Given the description of an element on the screen output the (x, y) to click on. 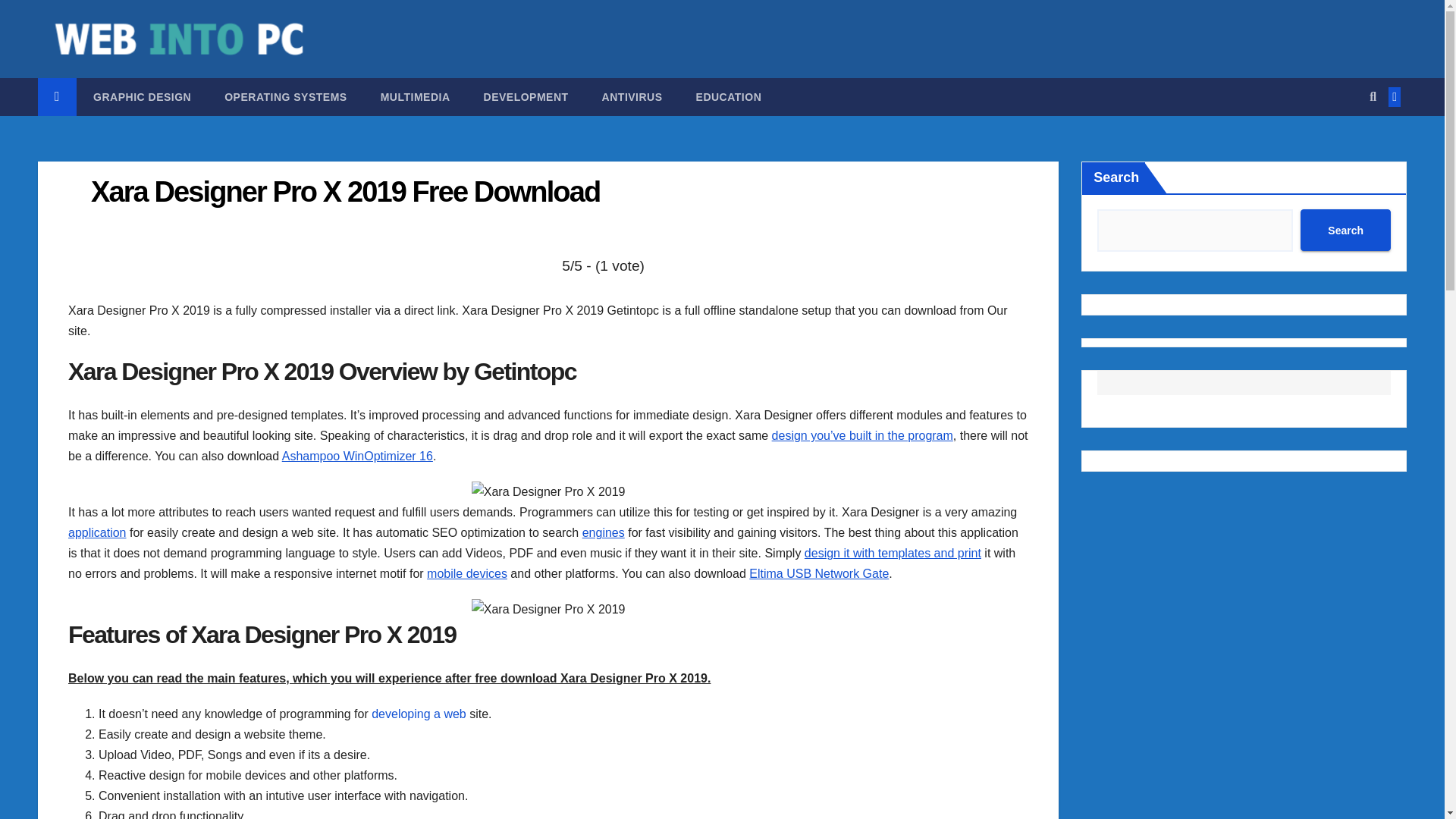
Development (526, 96)
design it with templates and print (893, 553)
Operating Systems (285, 96)
Eltima USB Network Gate (818, 573)
mobile devices (466, 573)
engines (603, 532)
Education (728, 96)
EDUCATION (728, 96)
Antivirus (632, 96)
Multimedia (415, 96)
